Given the description of an element on the screen output the (x, y) to click on. 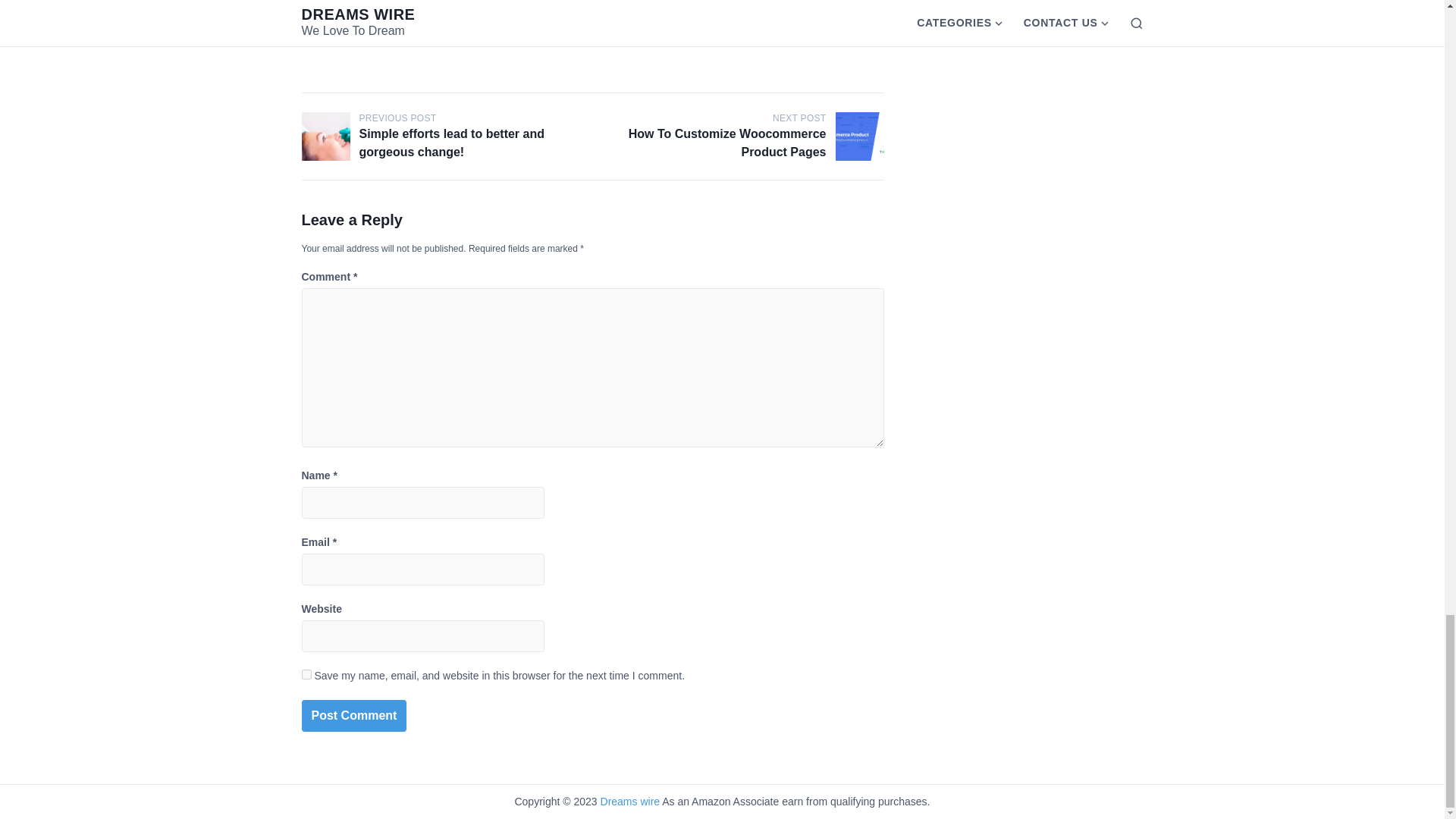
Simple efforts lead to better and gorgeous change! (325, 136)
yes (306, 674)
Post Comment (354, 716)
How To Customize Woocommerce Product Pages (859, 136)
